Given the description of an element on the screen output the (x, y) to click on. 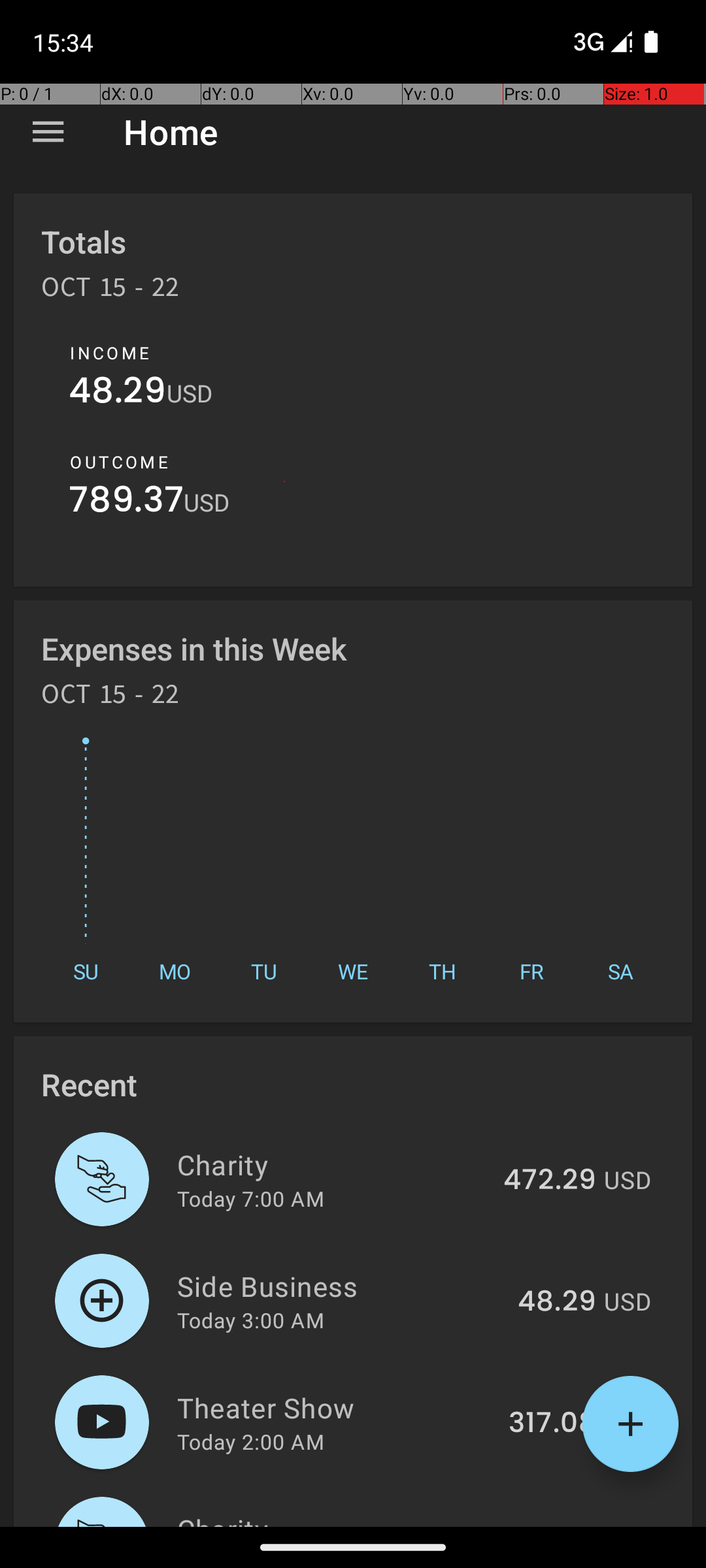
48.29 Element type: android.widget.TextView (117, 393)
789.37 Element type: android.widget.TextView (125, 502)
Charity Element type: android.widget.TextView (332, 1164)
Today 7:00 AM Element type: android.widget.TextView (250, 1198)
472.29 Element type: android.widget.TextView (549, 1180)
Side Business Element type: android.widget.TextView (339, 1285)
Today 3:00 AM Element type: android.widget.TextView (250, 1320)
Theater Show Element type: android.widget.TextView (335, 1407)
Today 2:00 AM Element type: android.widget.TextView (250, 1441)
317.08 Element type: android.widget.TextView (551, 1423)
299.04 Element type: android.widget.TextView (547, 1524)
